Given the description of an element on the screen output the (x, y) to click on. 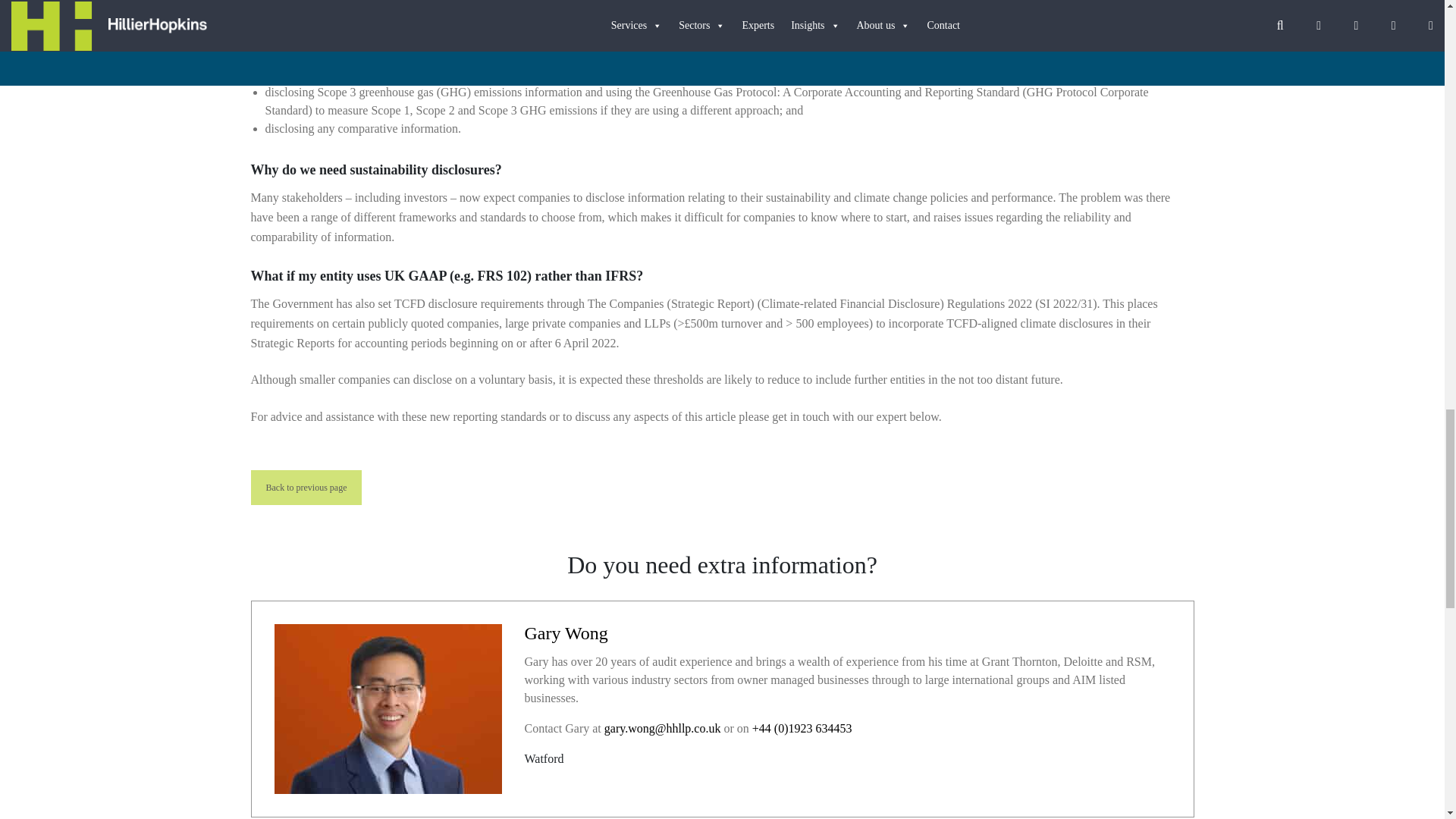
Back to previous page (305, 487)
